Given the description of an element on the screen output the (x, y) to click on. 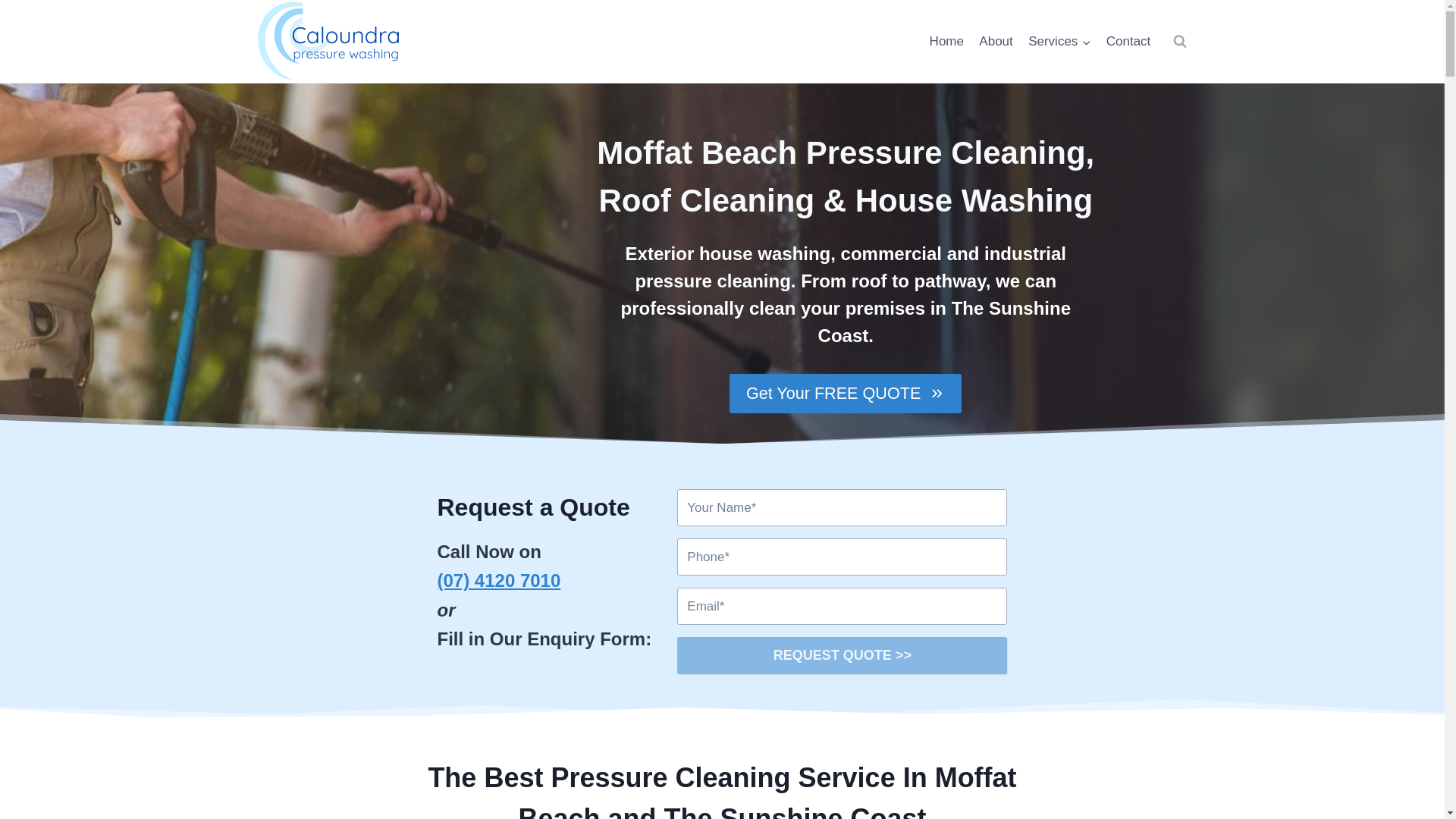
Contact (1128, 41)
About (995, 41)
Services (1059, 41)
Home (946, 41)
Get Your FREE QUOTE (844, 393)
